Given the description of an element on the screen output the (x, y) to click on. 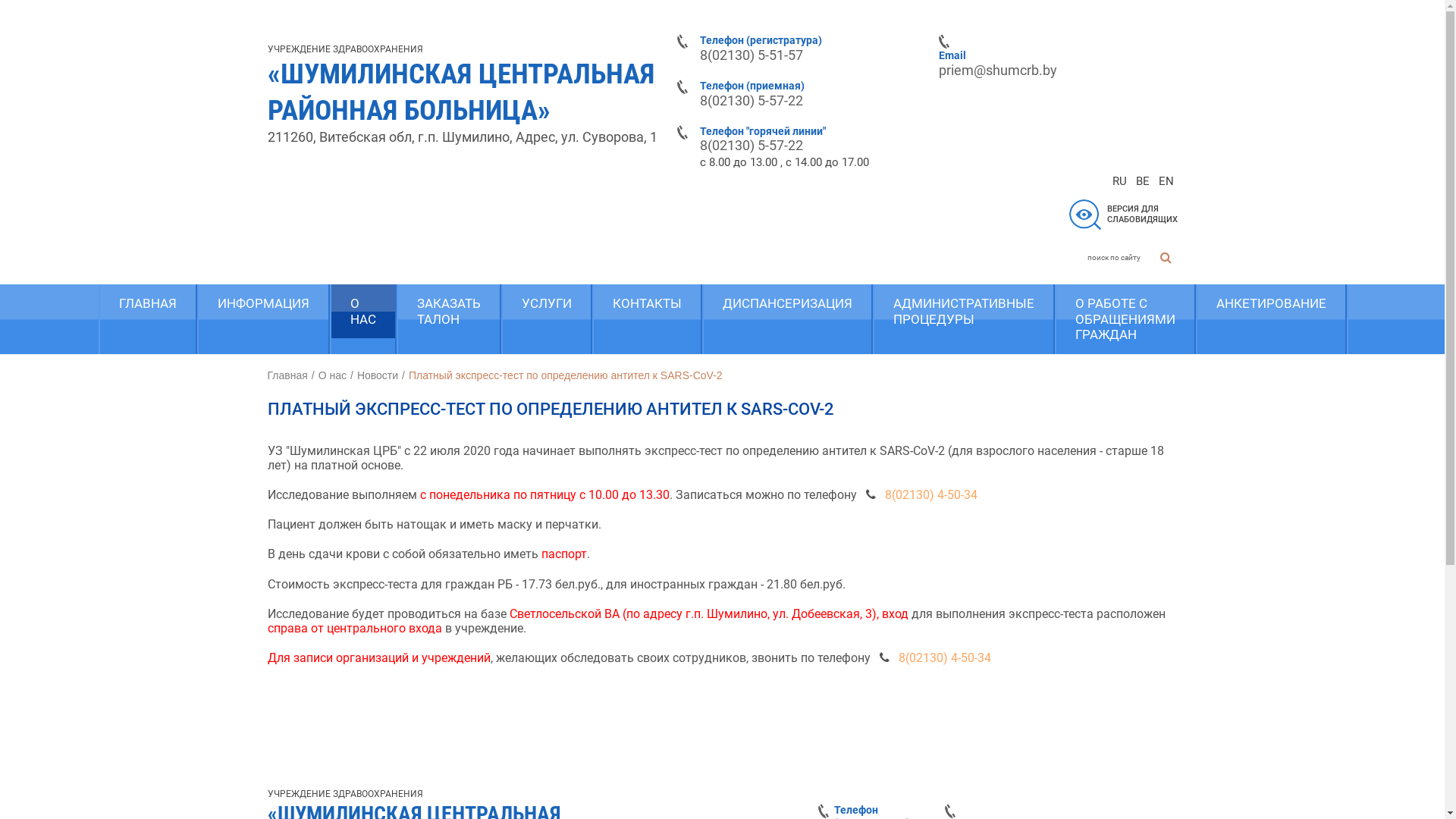
EN Element type: text (1165, 180)
BE Element type: text (1141, 180)
priem@shumcrb.by Element type: text (997, 70)
8(02130) 5-57-22 Element type: text (750, 145)
8(02130) 5-51-57 Element type: text (750, 54)
8(02130) 4-50-34 Element type: text (930, 494)
8(02130) 4-50-34 Element type: text (943, 657)
8(02130) 5-57-22 Element type: text (750, 100)
RU Element type: text (1119, 180)
